Given the description of an element on the screen output the (x, y) to click on. 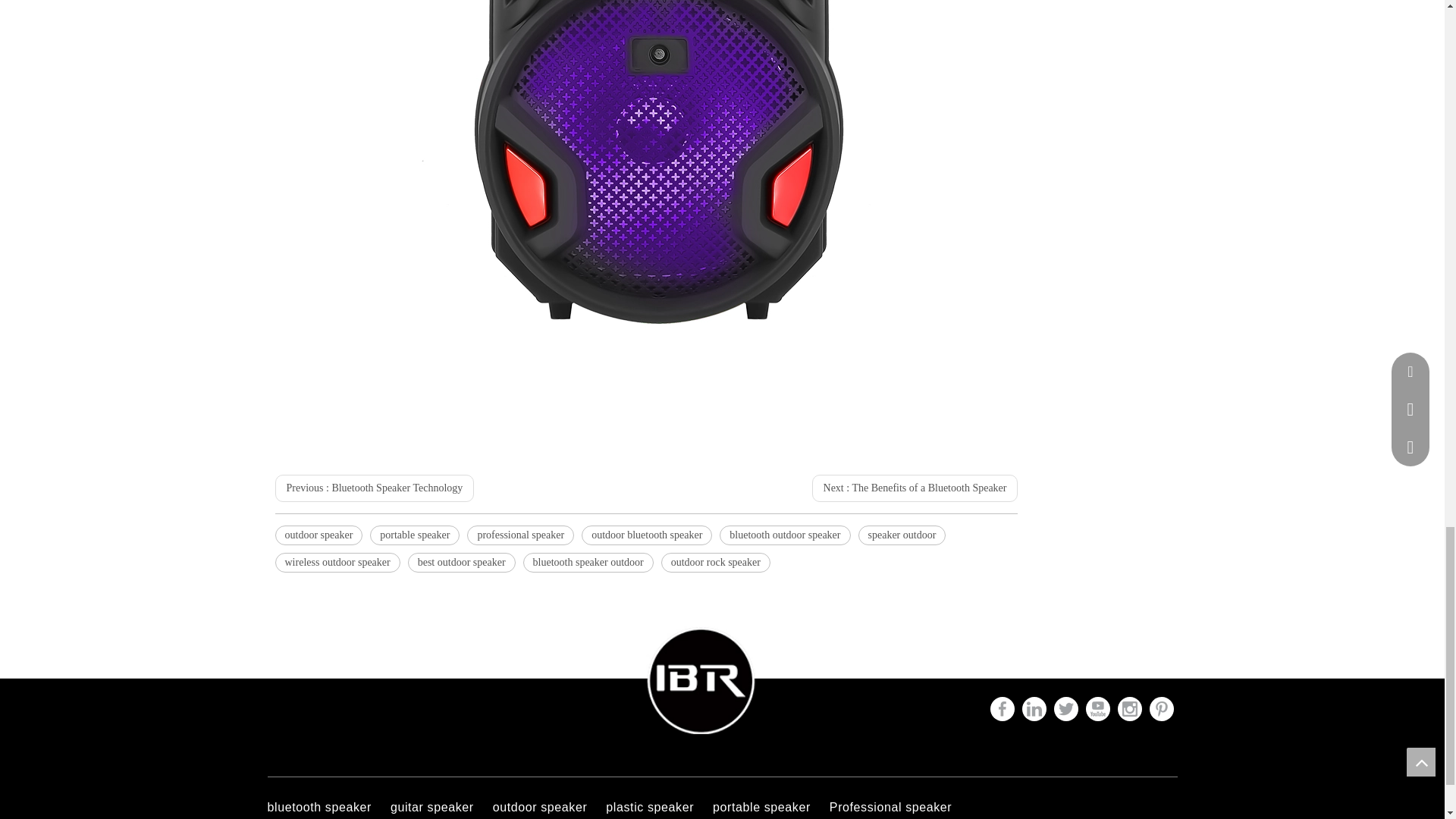
Previous : Bluetooth Speaker Technology (374, 488)
professional speaker (520, 535)
outdoor speaker (318, 535)
wireless outdoor speaker (336, 562)
best outdoor speaker (461, 562)
outdoor rock speaker (715, 562)
bluetooth speaker outdoor (587, 562)
wireless outdoor speaker (336, 562)
outdoor bluetooth speaker (645, 535)
speaker outdoor (902, 535)
outdoor bluetooth speaker (645, 535)
outdoor speaker (318, 535)
best outdoor speaker (461, 562)
portable speaker (414, 535)
bluetooth outdoor speaker (784, 535)
